Given the description of an element on the screen output the (x, y) to click on. 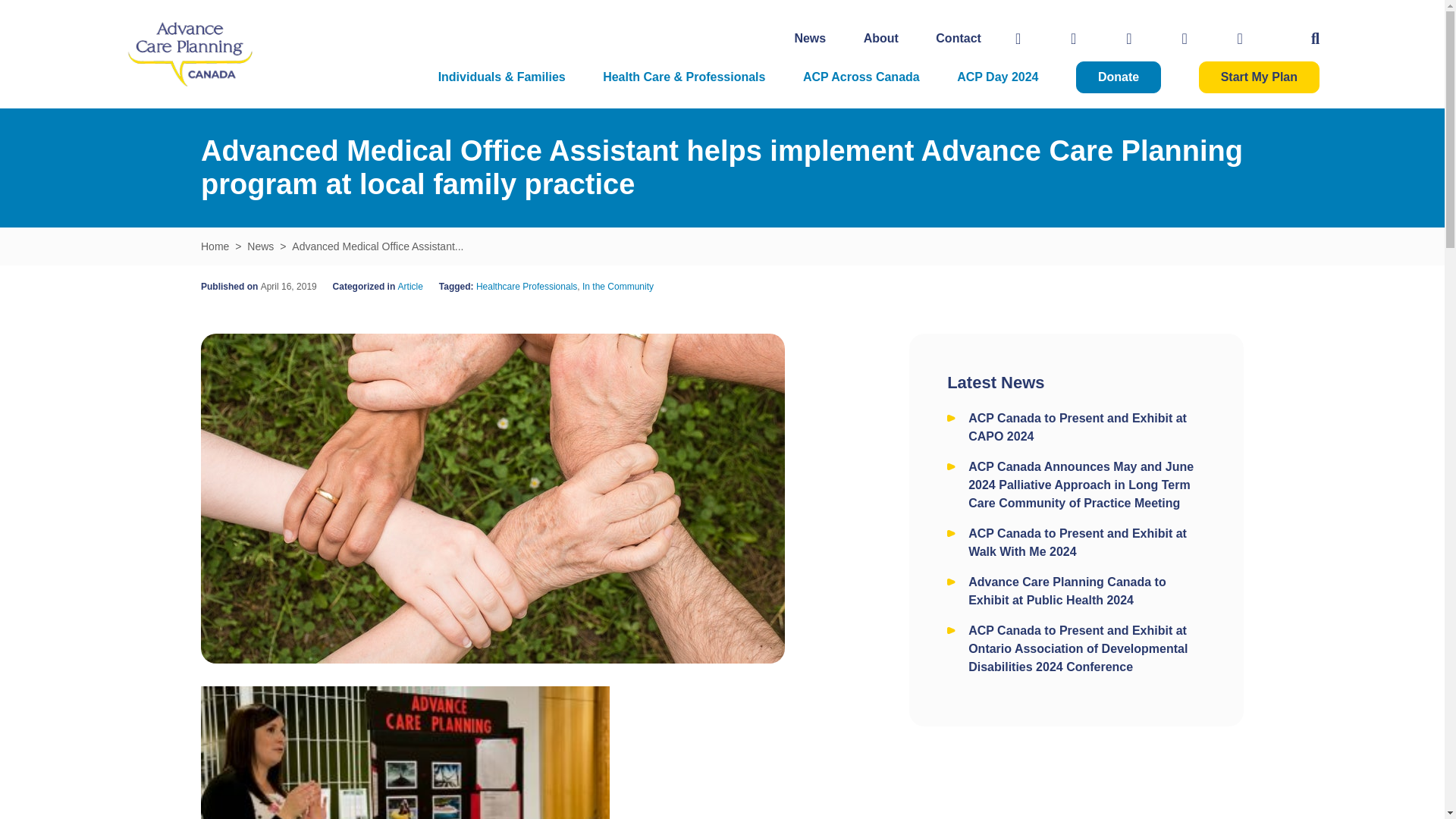
Go to Advanced Medical Office Assistant.... (377, 246)
Go to News. (260, 246)
Start My Plan (1258, 77)
Contact (958, 38)
News (809, 38)
ACP Day 2024 (997, 76)
In the Community (617, 286)
Go to Home. (214, 246)
News (260, 246)
